Given the description of an element on the screen output the (x, y) to click on. 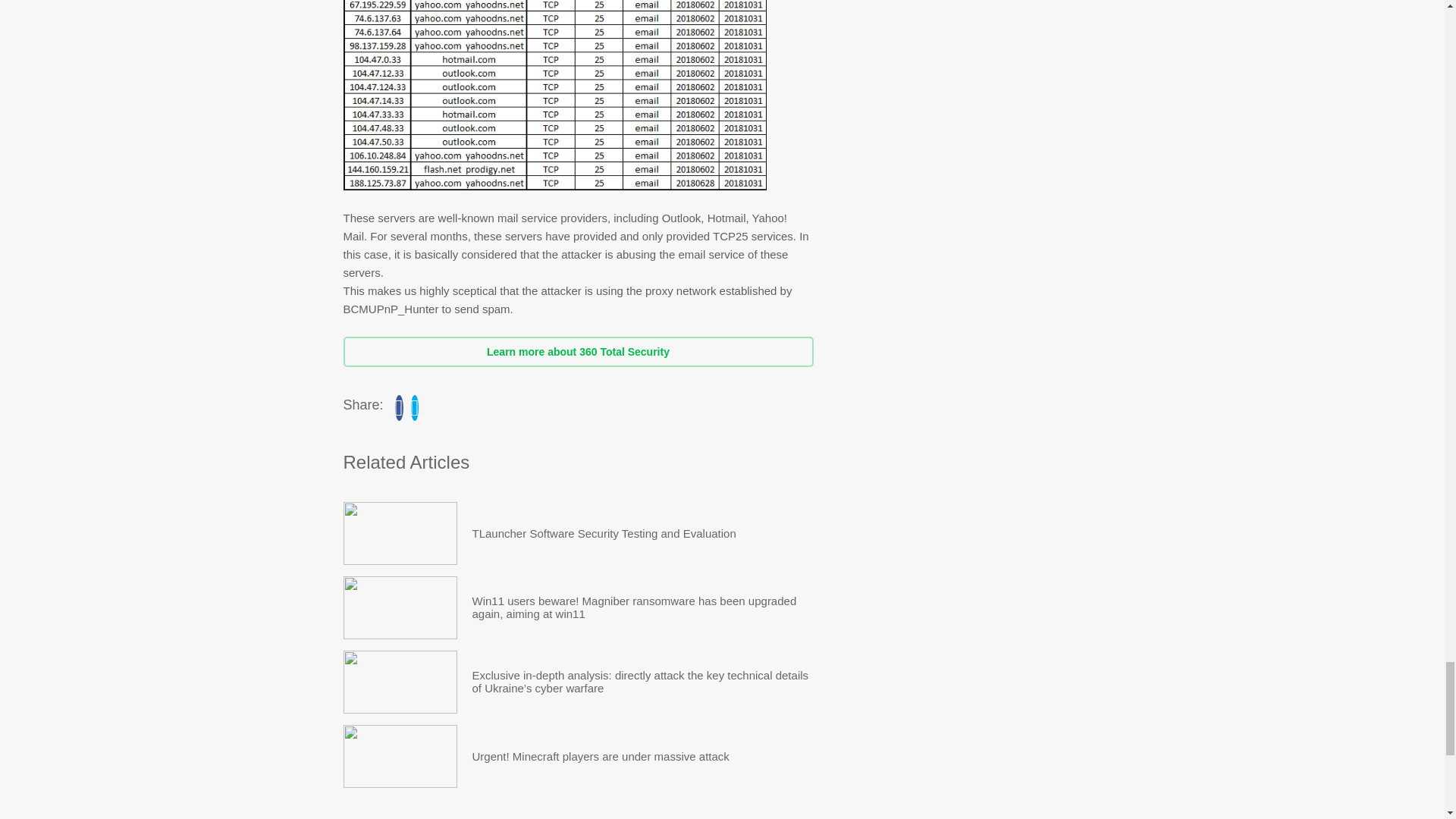
TLauncher Software Security Testing and Evaluation (399, 533)
Learn more about 360 Total Security (577, 351)
TLauncher Software Security Testing and Evaluation (603, 533)
Urgent! Minecraft players are under massive attack (399, 755)
Learn more about 360 Total Security (577, 351)
Urgent! Minecraft players are under massive attack (600, 755)
TLauncher Software Security Testing and Evaluation (603, 533)
Urgent! Minecraft players are under massive attack (600, 755)
